Given the description of an element on the screen output the (x, y) to click on. 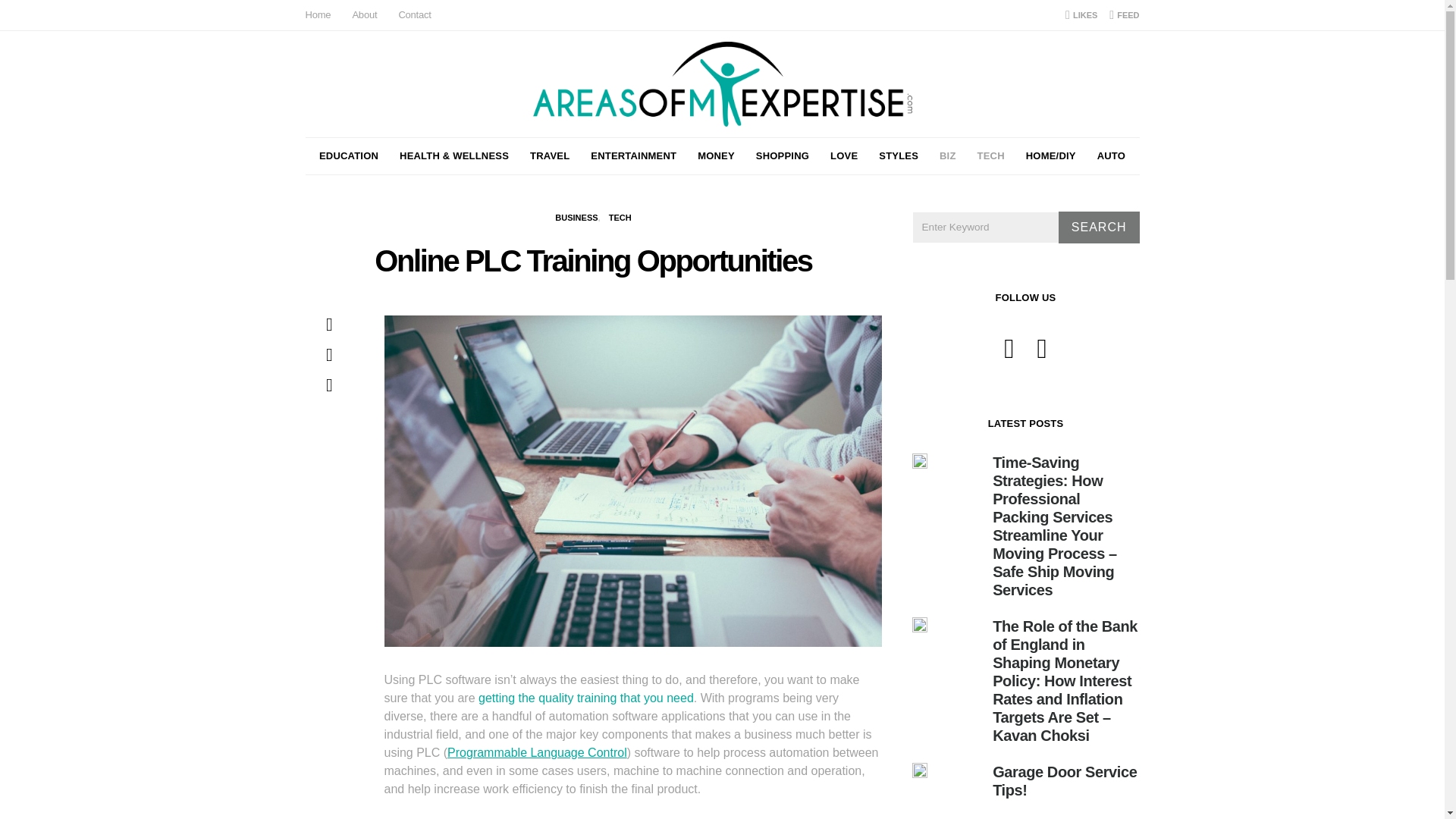
Programmable Language Control (536, 752)
TECH (619, 216)
FEED (1123, 15)
About (364, 14)
LIKES (1081, 15)
EDUCATION (348, 156)
ENTERTAINMENT (634, 156)
SHOPPING (782, 156)
Contact (413, 14)
STYLES (898, 156)
